Given the description of an element on the screen output the (x, y) to click on. 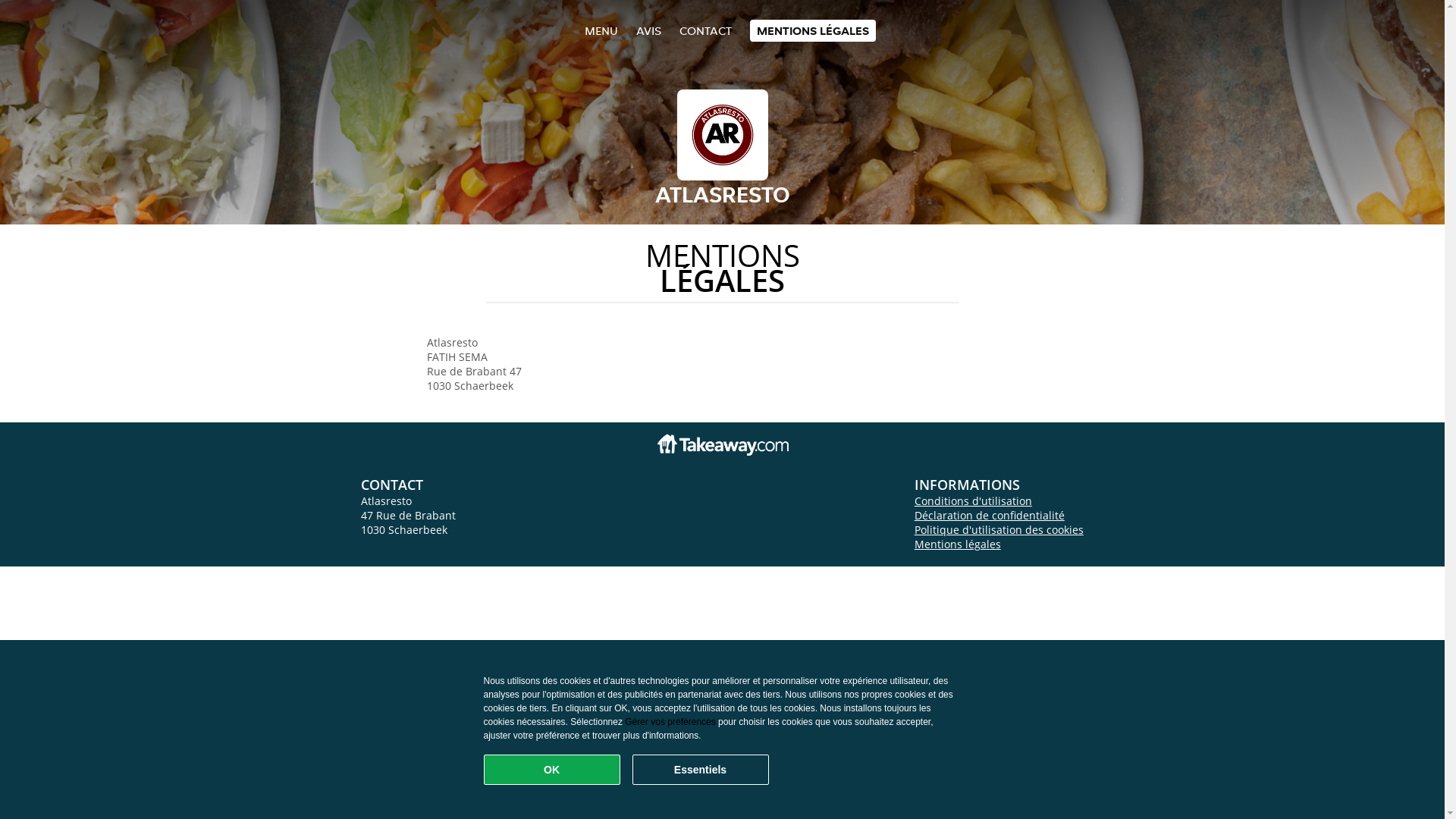
Conditions d'utilisation Element type: text (973, 500)
OK Element type: text (551, 769)
Politique d'utilisation des cookies Element type: text (998, 529)
CONTACT Element type: text (705, 30)
MENU Element type: text (600, 30)
AVIS Element type: text (647, 30)
Essentiels Element type: text (700, 769)
